Given the description of an element on the screen output the (x, y) to click on. 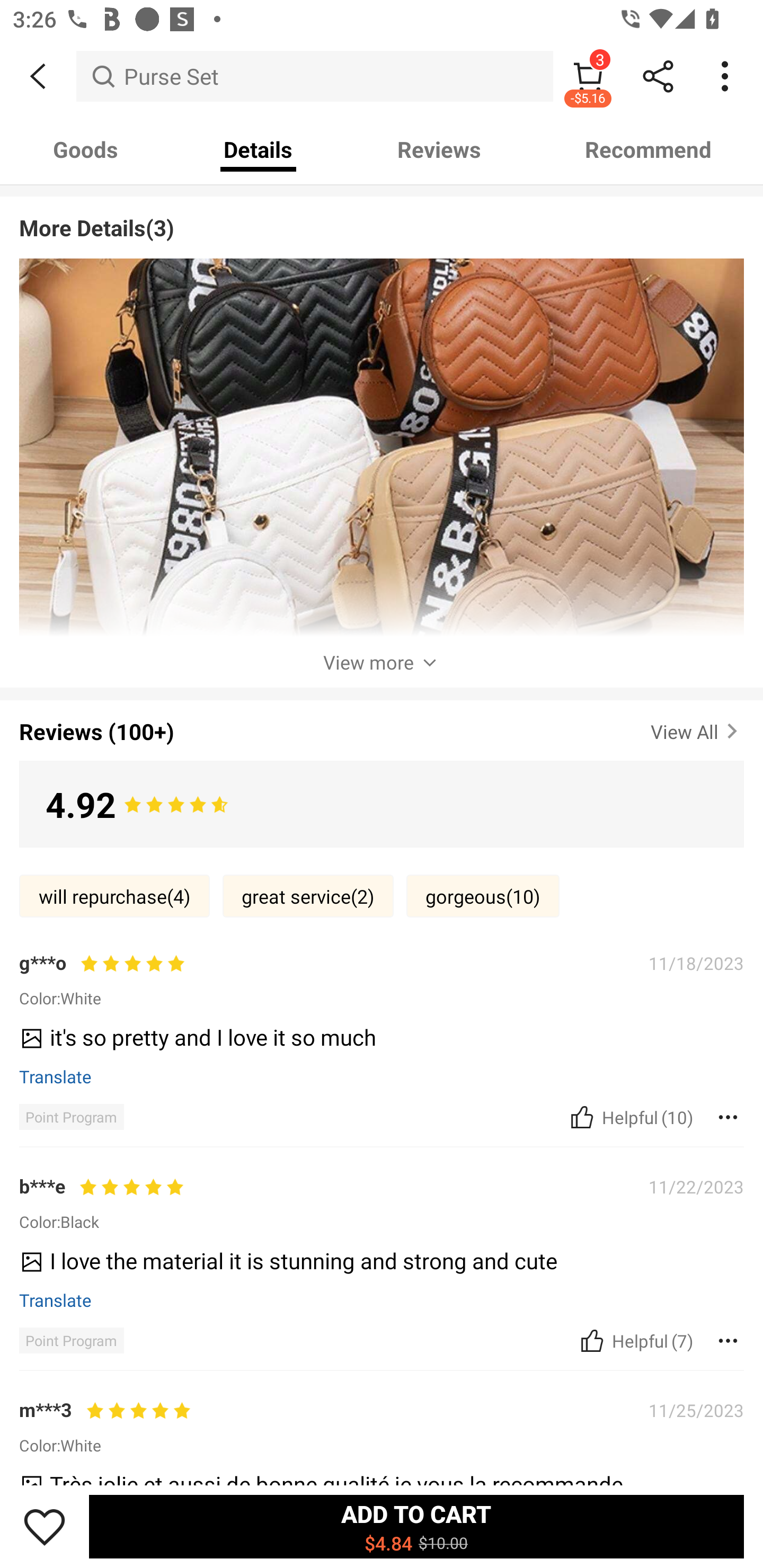
BACK (38, 75)
3 -$5.16 (588, 75)
Purse Set (314, 75)
Goods (85, 149)
Details (257, 149)
Reviews (439, 149)
Recommend (648, 149)
More Details(3) View more (381, 435)
View more (381, 662)
Reviews‎ (100‎+) View All 4.92 Average rating4.92 (381, 770)
will repurchase(4) (114, 895)
great service(2) (307, 895)
gorgeous(10) (482, 895)
g***o Rating5.0 11/18/2023 Color:White (381, 978)
  it's so pretty and I love it so much (374, 1043)
Translate (55, 1076)
Cancel Helpful Was this article helpful? (10) (629, 1117)
Point Program (71, 1116)
b***e Rating5.0 11/22/2023 Color:Black (381, 1202)
Translate (55, 1299)
Cancel Helpful Was this article helpful? (7) (634, 1340)
Point Program (71, 1340)
m***3 Rating5.0 11/25/2023 Color:White (381, 1426)
ADD TO CART $4.84 $10.00 (416, 1526)
Save (44, 1526)
